Given the description of an element on the screen output the (x, y) to click on. 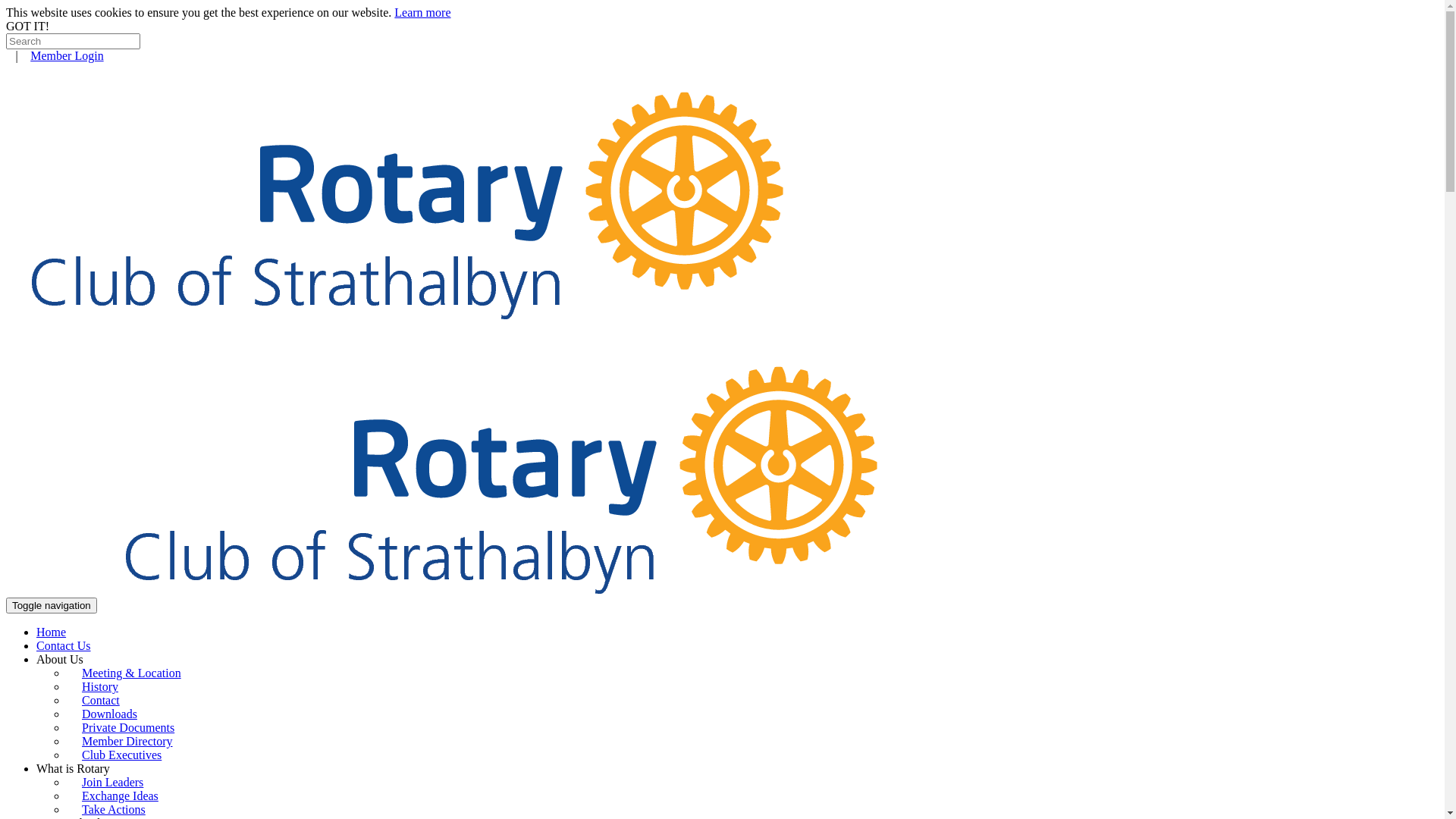
Member Login Element type: text (66, 55)
History Element type: text (99, 686)
Meeting & Location Element type: text (131, 672)
Home Element type: text (50, 631)
Private Documents Element type: text (127, 727)
Club Executives Element type: text (121, 754)
Learn more Element type: text (422, 12)
Downloads Element type: text (109, 713)
Join Leaders Element type: text (112, 781)
Contact Us Element type: text (63, 645)
GOT IT! Element type: text (27, 25)
Exchange Ideas Element type: text (119, 795)
Take Actions Element type: text (113, 809)
Contact Element type: text (100, 700)
What is Rotary Element type: text (72, 768)
About Us Element type: text (59, 658)
Member Directory Element type: text (127, 740)
Toggle navigation Element type: text (51, 605)
